Given the description of an element on the screen output the (x, y) to click on. 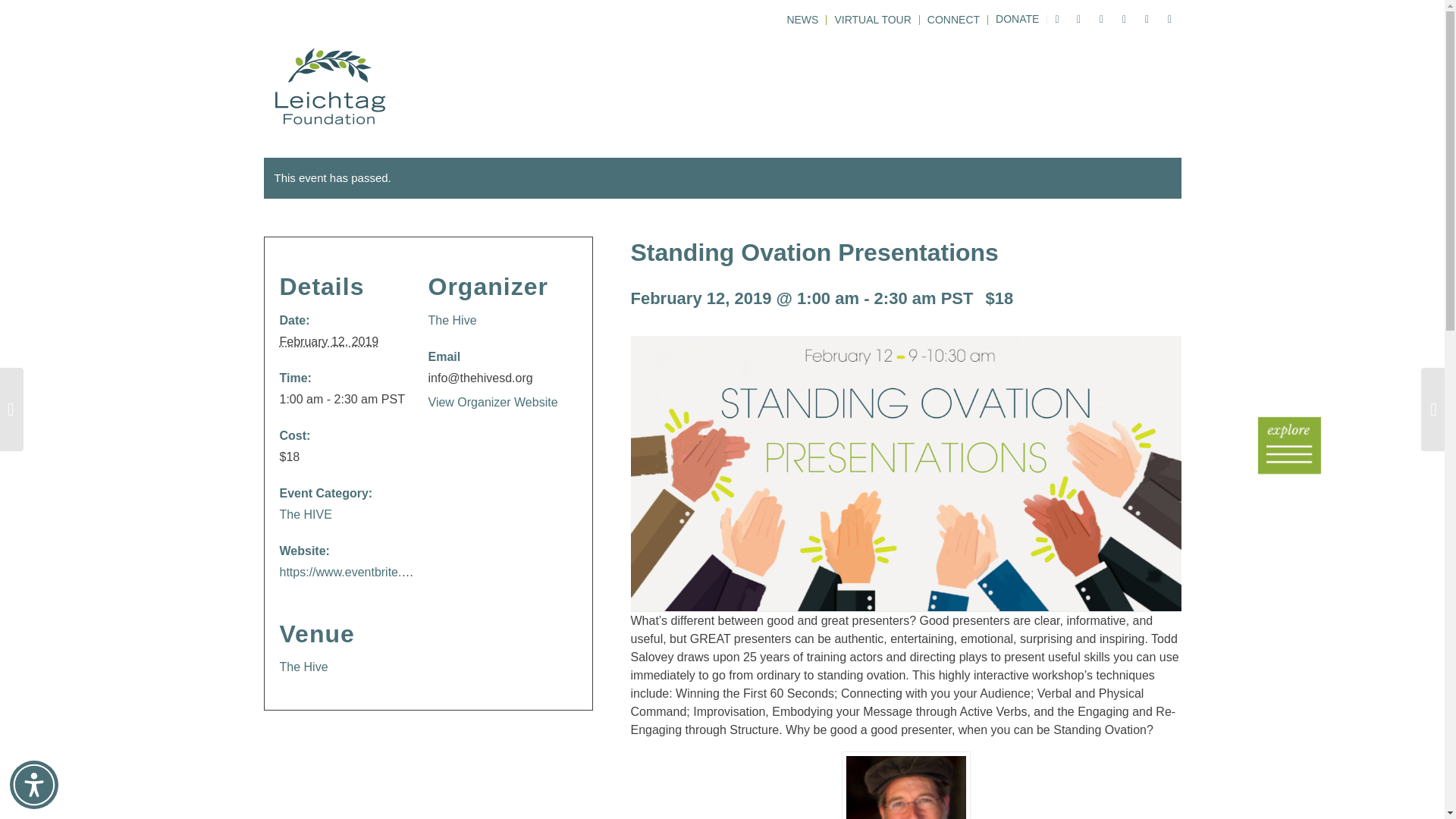
Instagram (1124, 18)
Leichtag-Foundation-Logo2 (329, 85)
Facebook (1101, 18)
2019-02-12 (328, 341)
Youtube (1146, 18)
Accessibility Menu (34, 784)
LinkedIn (1169, 18)
X (1078, 18)
